Given the description of an element on the screen output the (x, y) to click on. 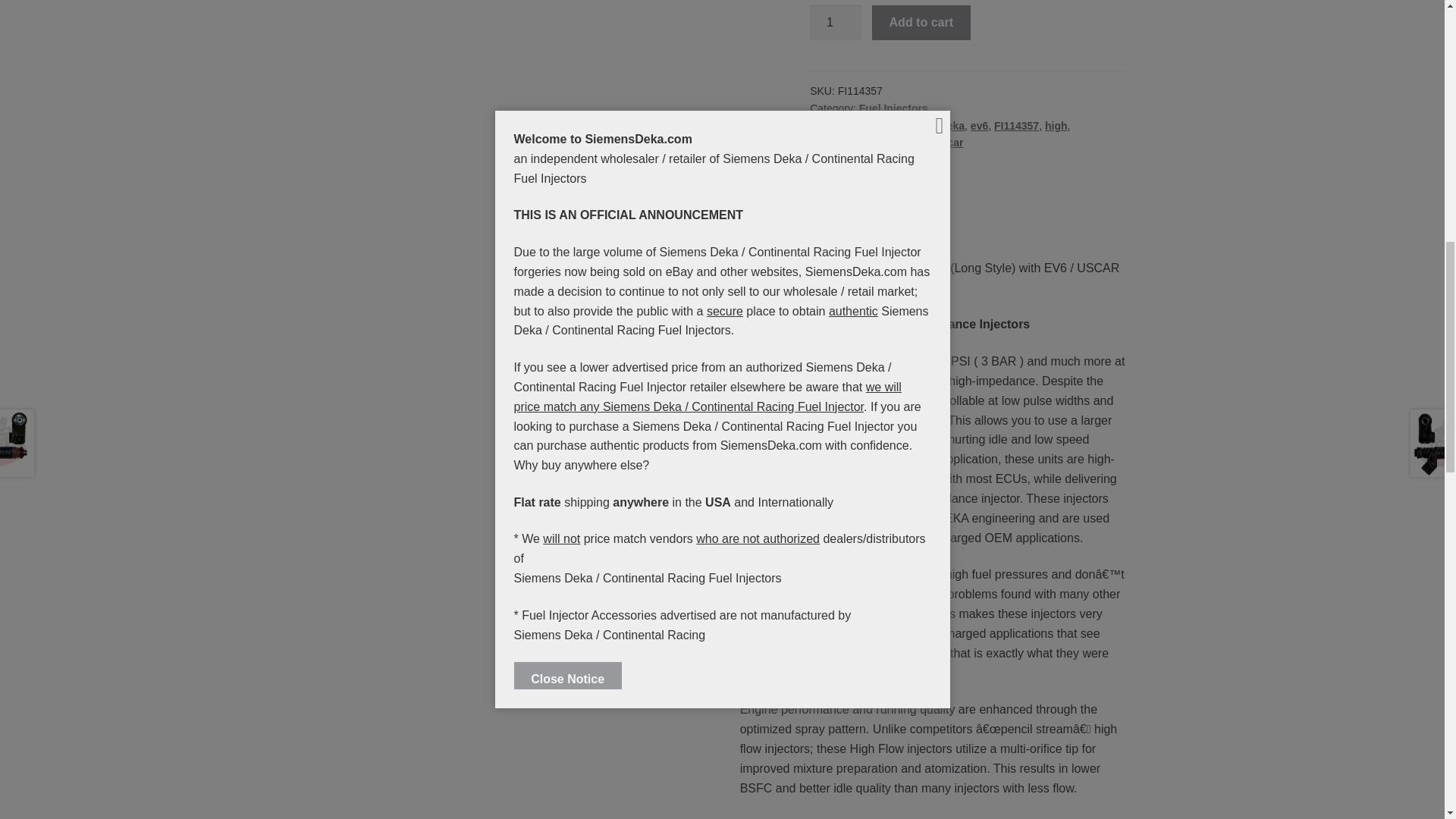
44 (844, 125)
FI114357 (1016, 125)
1 (835, 22)
impedance (836, 142)
44lb (866, 125)
ev6 (979, 125)
Add to cart (921, 22)
high (1056, 125)
Fuel Injectors (893, 108)
deka (951, 125)
connector (908, 125)
siemens (907, 142)
